Given the description of an element on the screen output the (x, y) to click on. 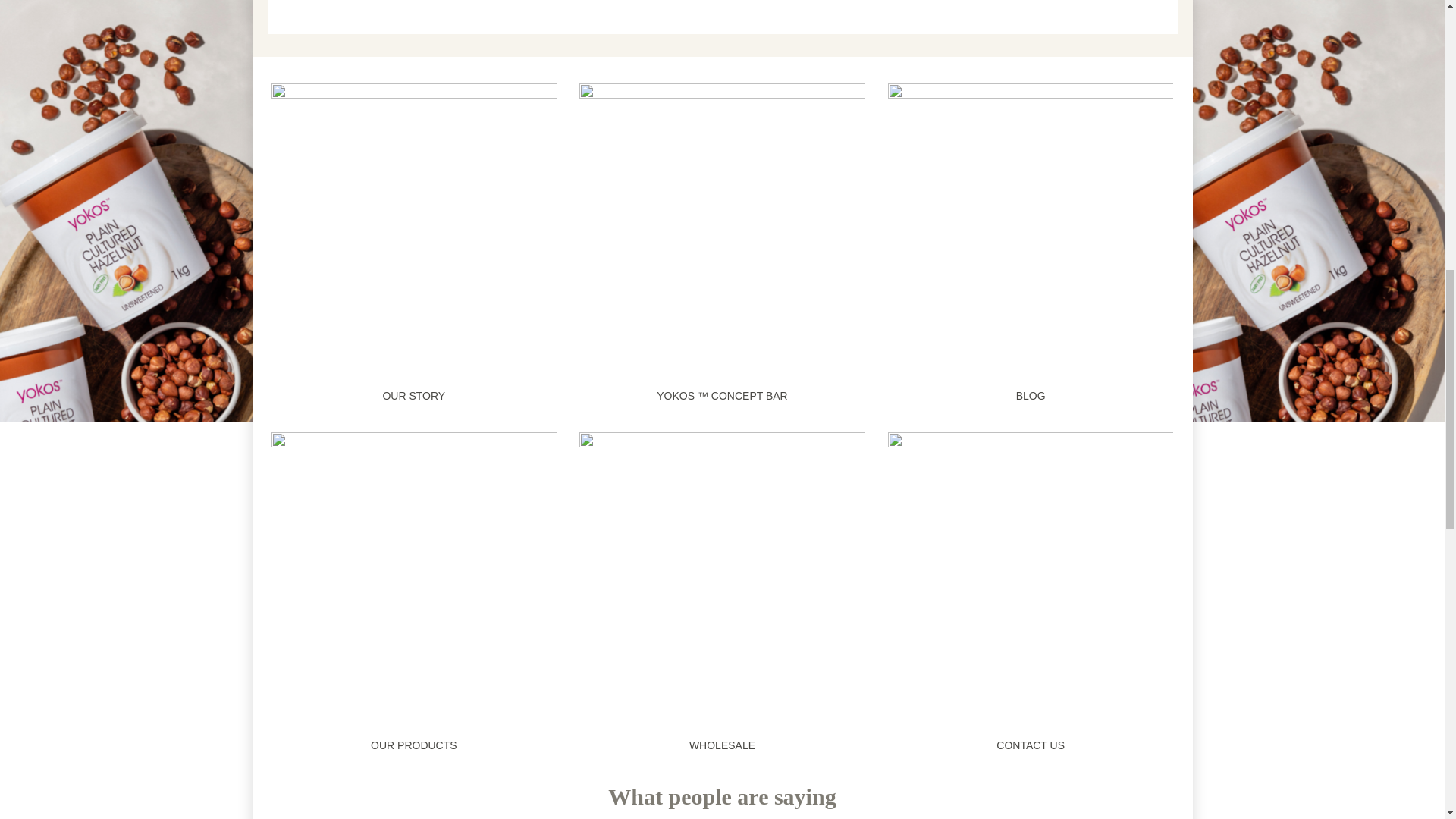
home1 (494, 3)
CONTACT US (1029, 745)
YokosCoconut (413, 575)
YokosSmoothies (721, 226)
home (413, 226)
yokosCrossing (1030, 226)
YokosTubsTower (721, 575)
OUR STORY (413, 395)
BLOG (1030, 395)
WHOLESALE (721, 745)
